Given the description of an element on the screen output the (x, y) to click on. 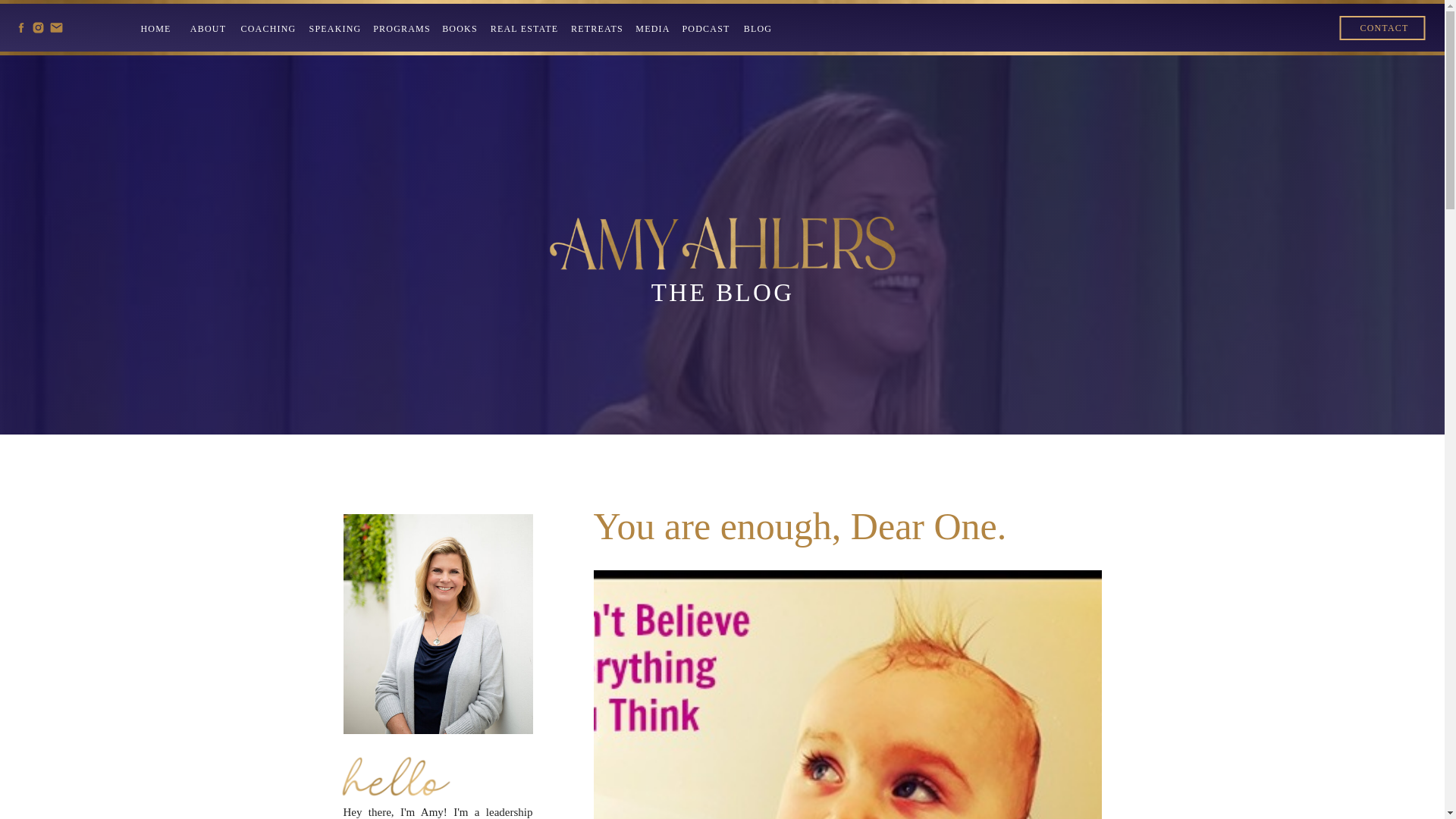
CONTACT (1384, 27)
ABOUT (207, 28)
PODCAST (705, 28)
REAL ESTATE (524, 28)
MEDIA (651, 28)
COACHING (268, 28)
RETREATS (596, 28)
HOME (155, 28)
BLOG (757, 28)
SPEAKING (334, 28)
